Given the description of an element on the screen output the (x, y) to click on. 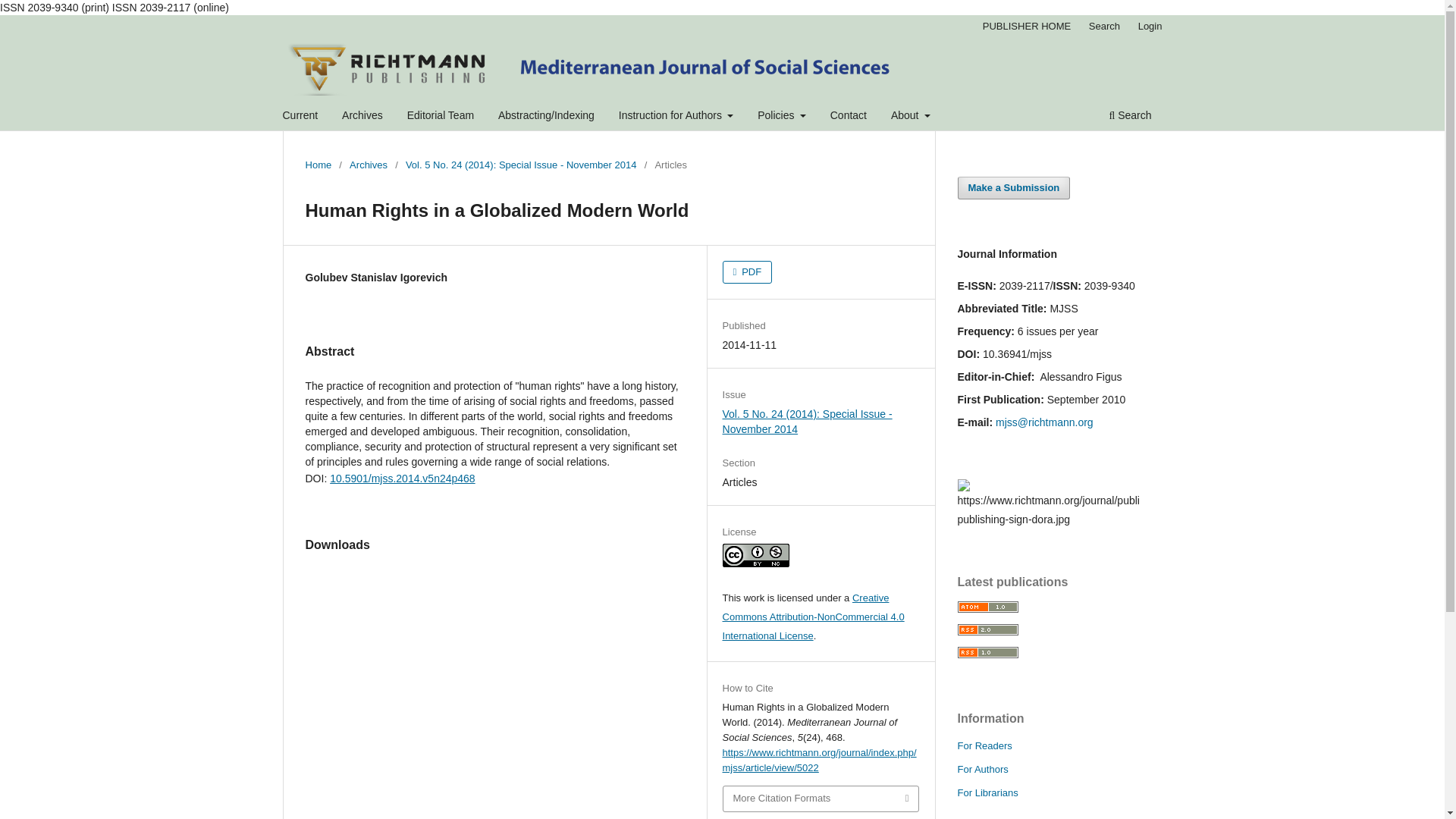
Home (317, 165)
Policies (781, 117)
PUBLISHER HOME (1026, 26)
More Citation Formats (820, 798)
Current (300, 117)
Archives (362, 117)
Search (1129, 117)
Instruction for Authors (675, 117)
Contact (848, 117)
About (910, 117)
Search (1103, 26)
PDF (747, 272)
Archives (368, 165)
Editorial Team (440, 117)
